Given the description of an element on the screen output the (x, y) to click on. 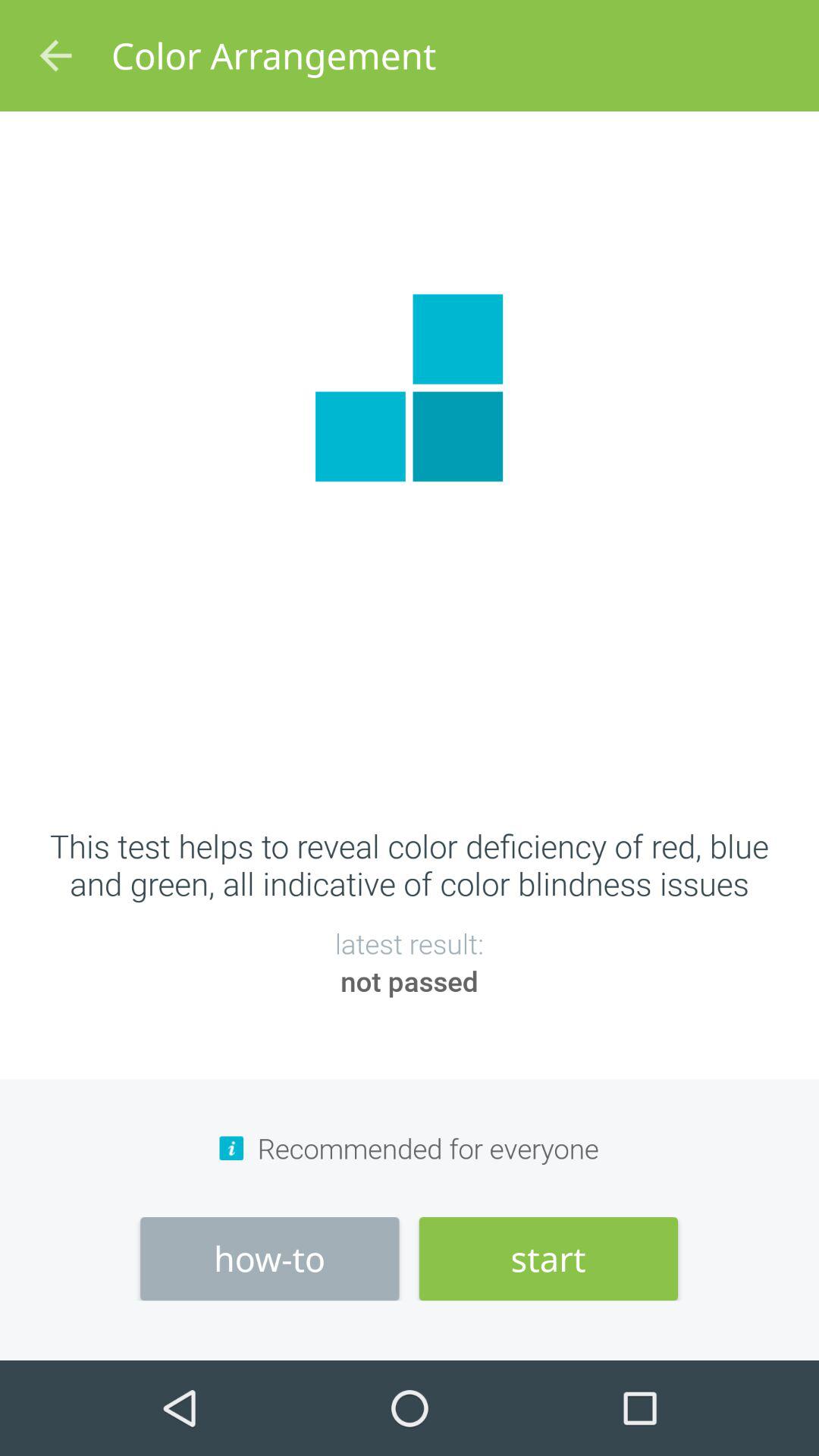
launch the item next to the start icon (269, 1258)
